Given the description of an element on the screen output the (x, y) to click on. 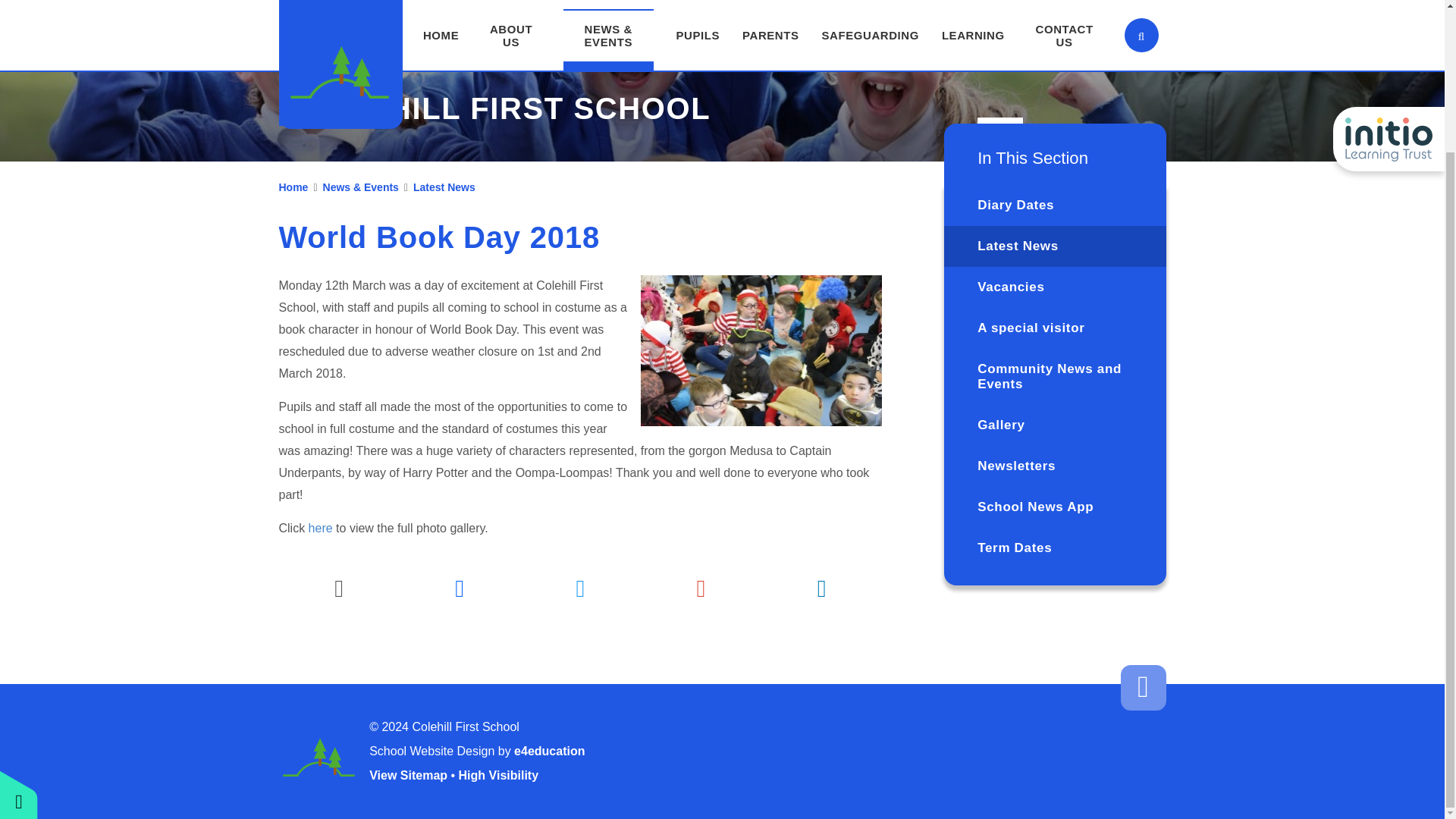
Allow Cookies (766, 245)
See cookie policy (810, 243)
Deny Cookies (765, 245)
